Given the description of an element on the screen output the (x, y) to click on. 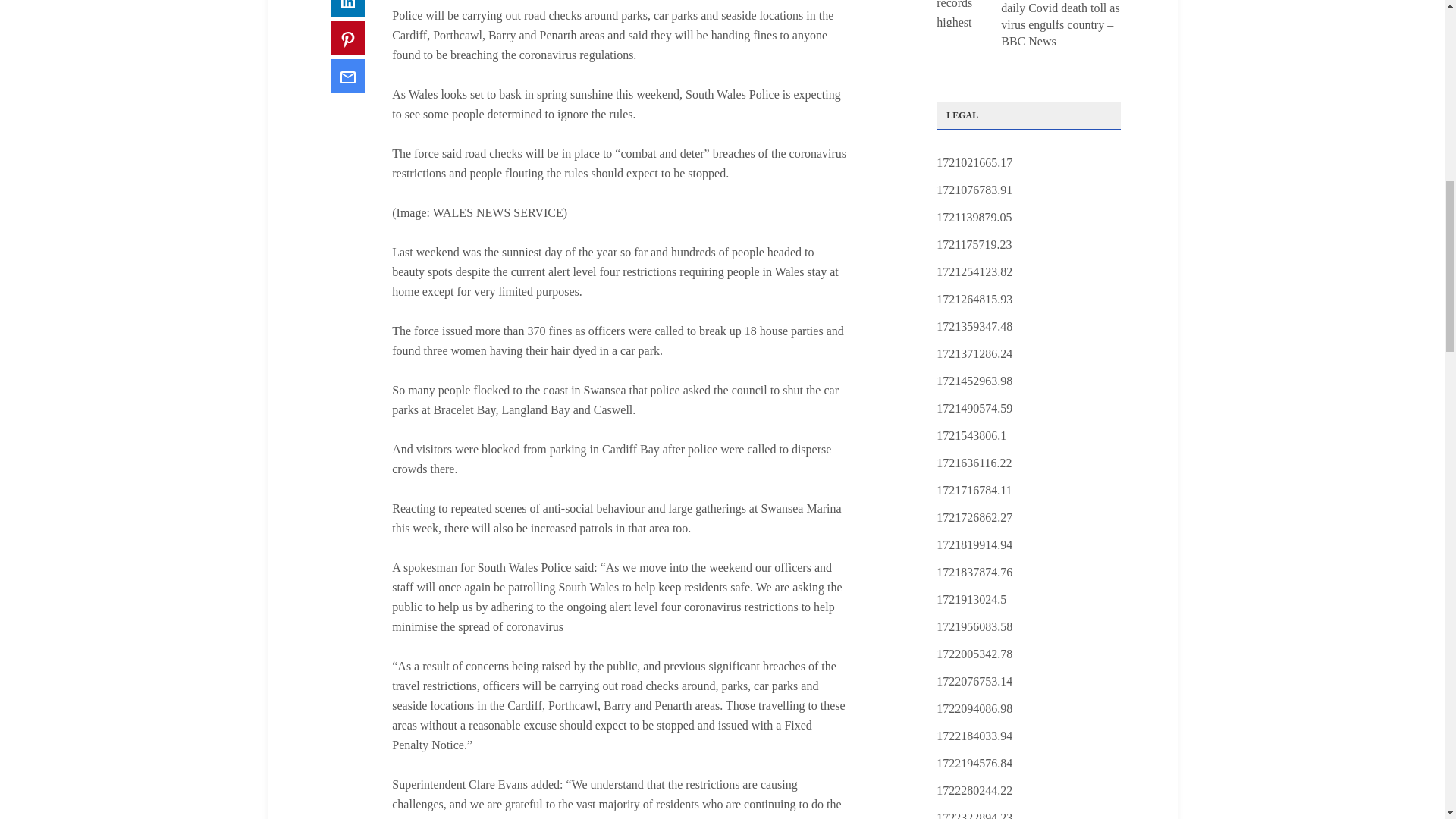
Email (347, 75)
Pinterest (347, 38)
LinkedIn (347, 8)
